Given the description of an element on the screen output the (x, y) to click on. 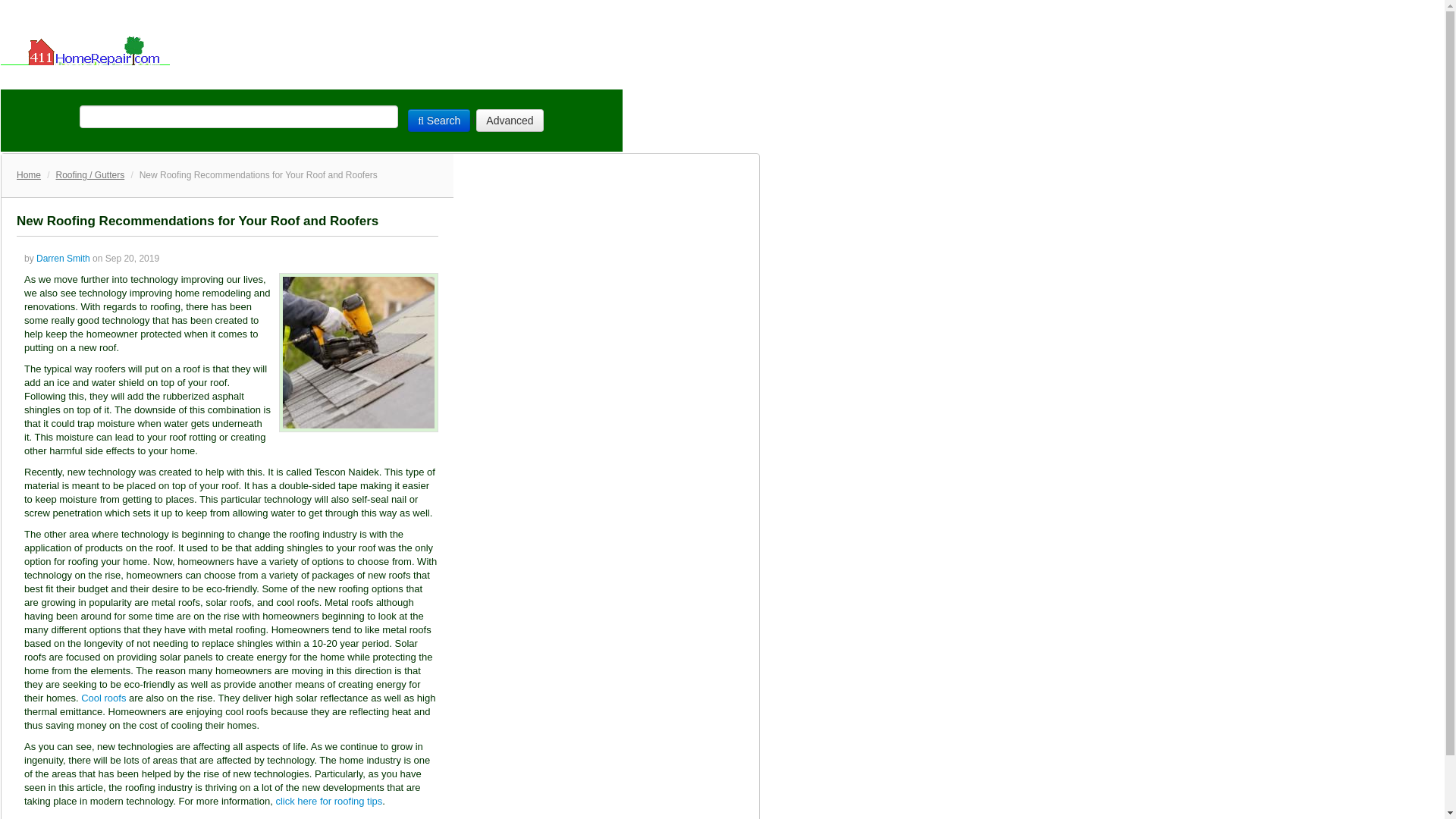
Darren Smith (63, 258)
Appliance Repairs (436, 77)
Home Page (50, 77)
Lighting (330, 77)
Advanced (509, 119)
Cool roofs (103, 697)
Submit Article (562, 77)
Search (438, 119)
Tools (209, 77)
Flooring (263, 77)
Home (28, 174)
click here for roofing tips (328, 800)
DIY Articles (140, 77)
